Given the description of an element on the screen output the (x, y) to click on. 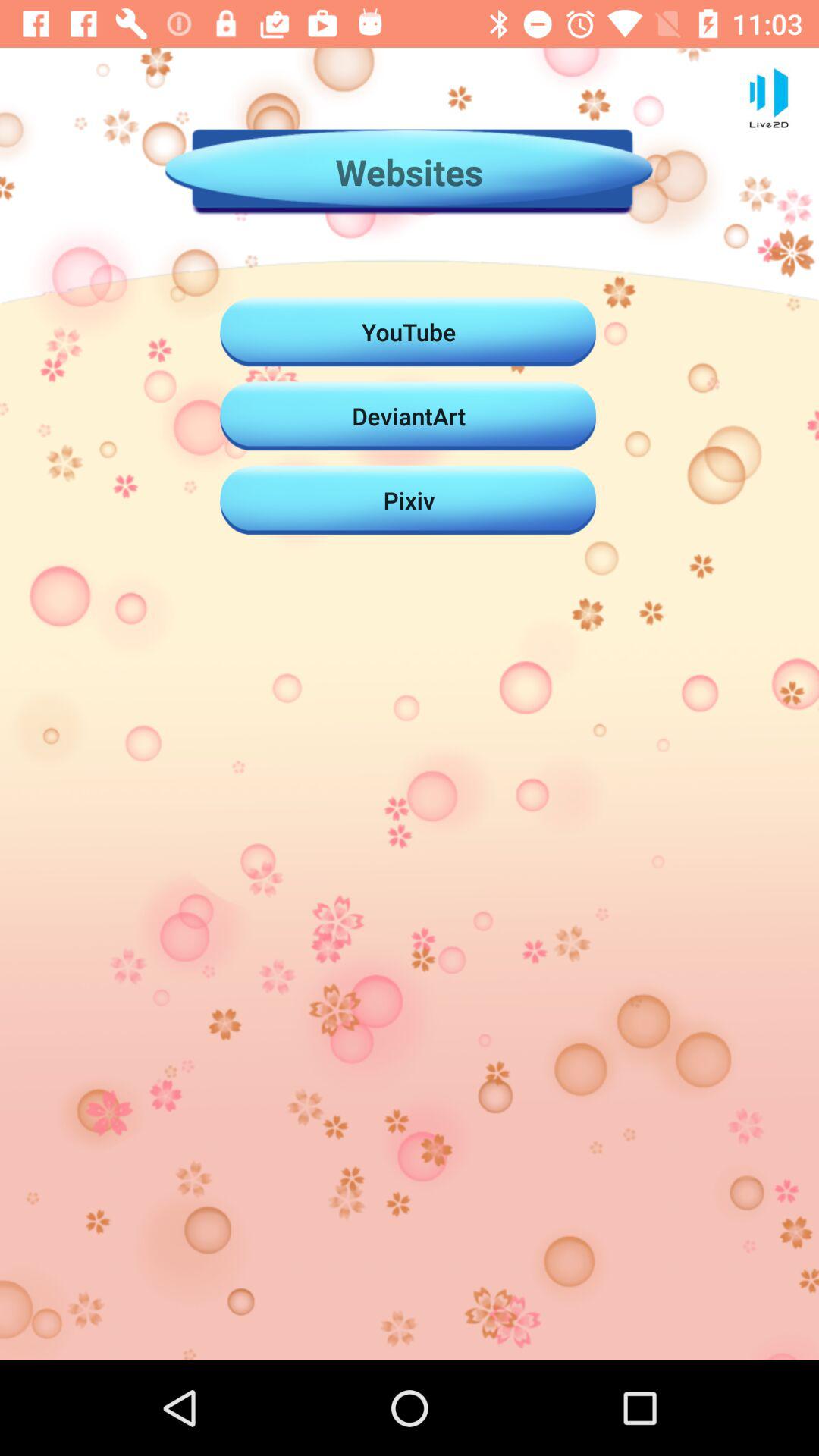
choose the icon above the pixiv (409, 416)
